Given the description of an element on the screen output the (x, y) to click on. 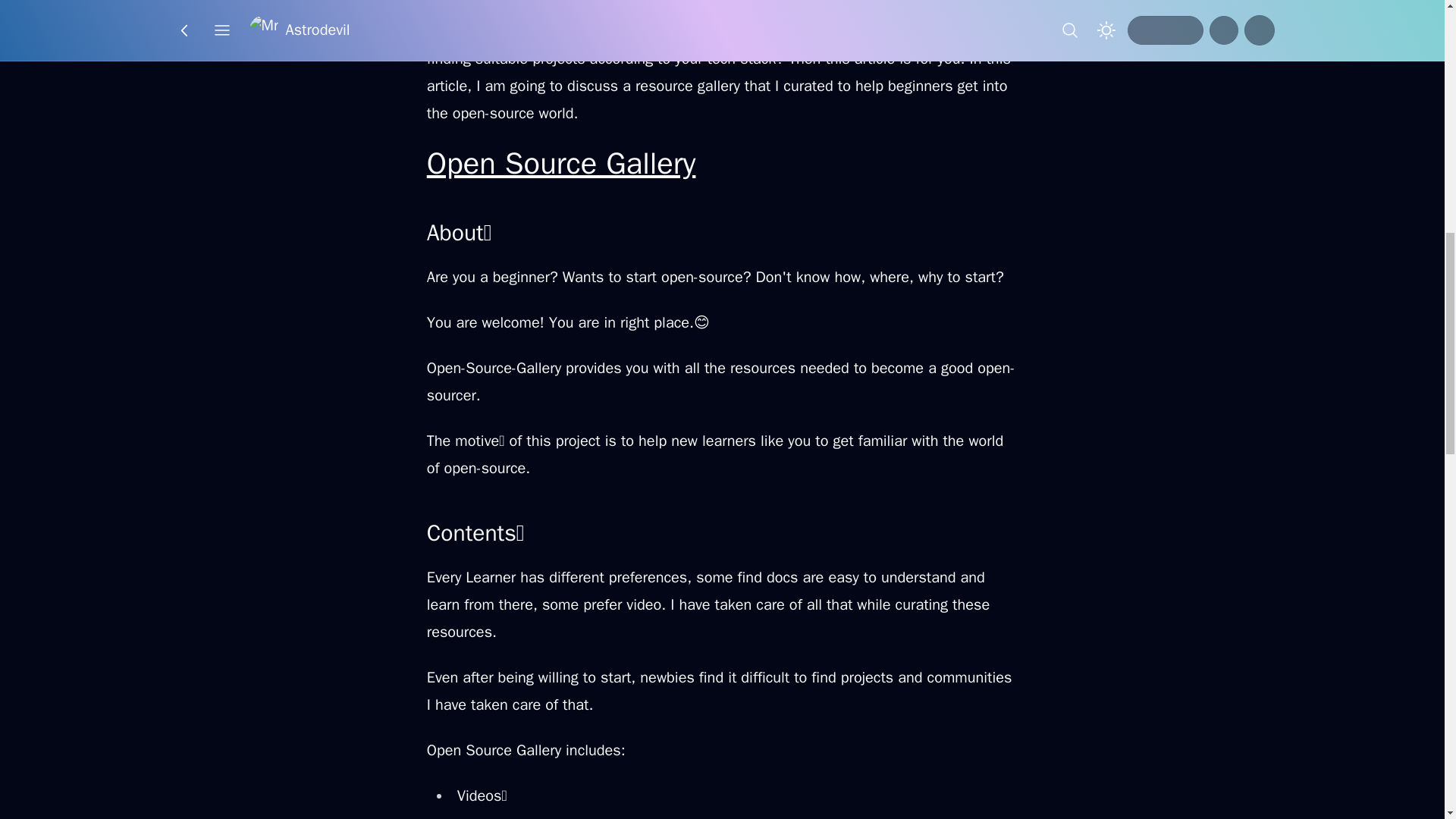
Open Source Gallery (560, 163)
